Given the description of an element on the screen output the (x, y) to click on. 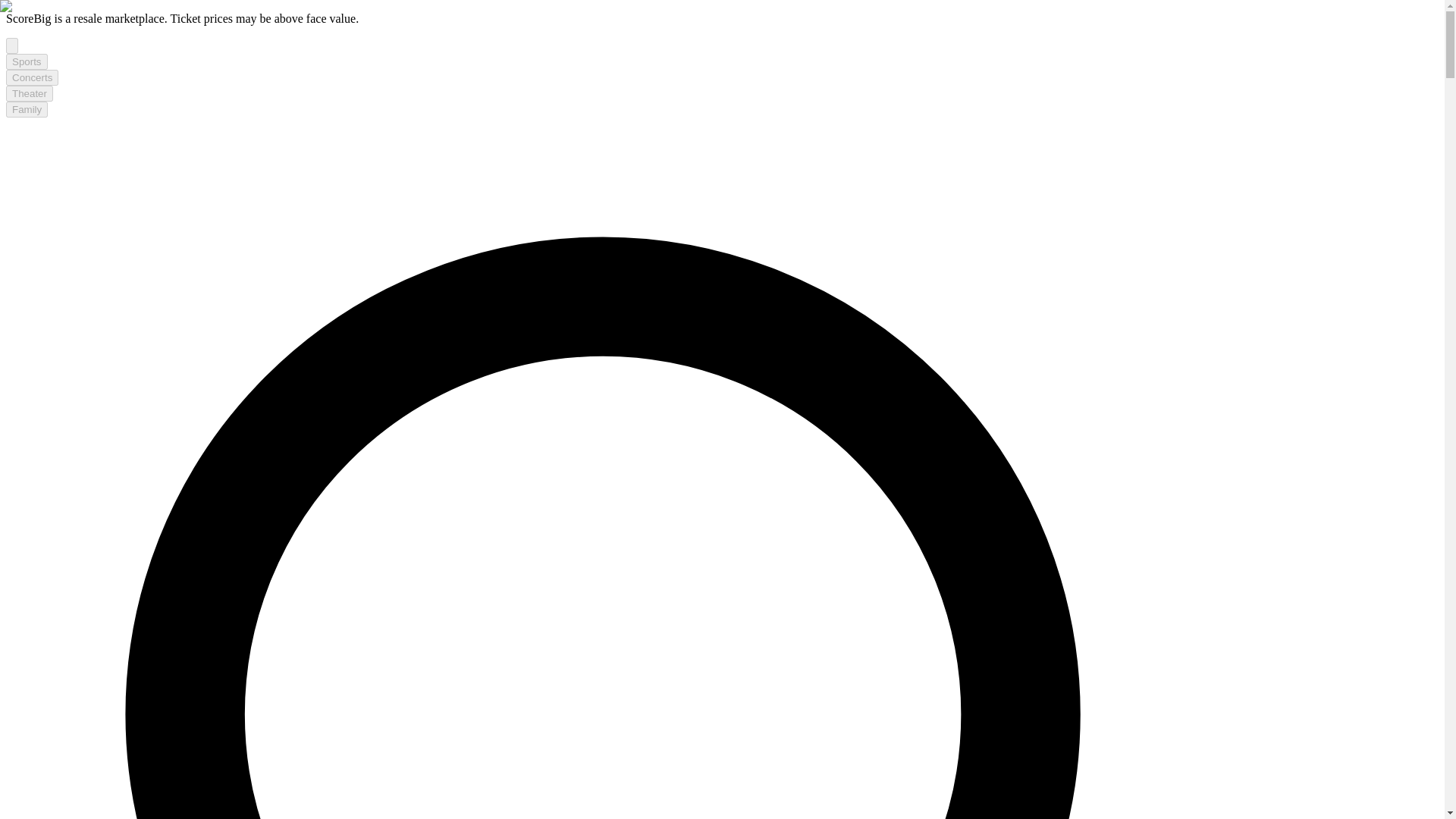
Family (26, 109)
Concerts (31, 77)
Sports (26, 61)
Theater (28, 93)
